Given the description of an element on the screen output the (x, y) to click on. 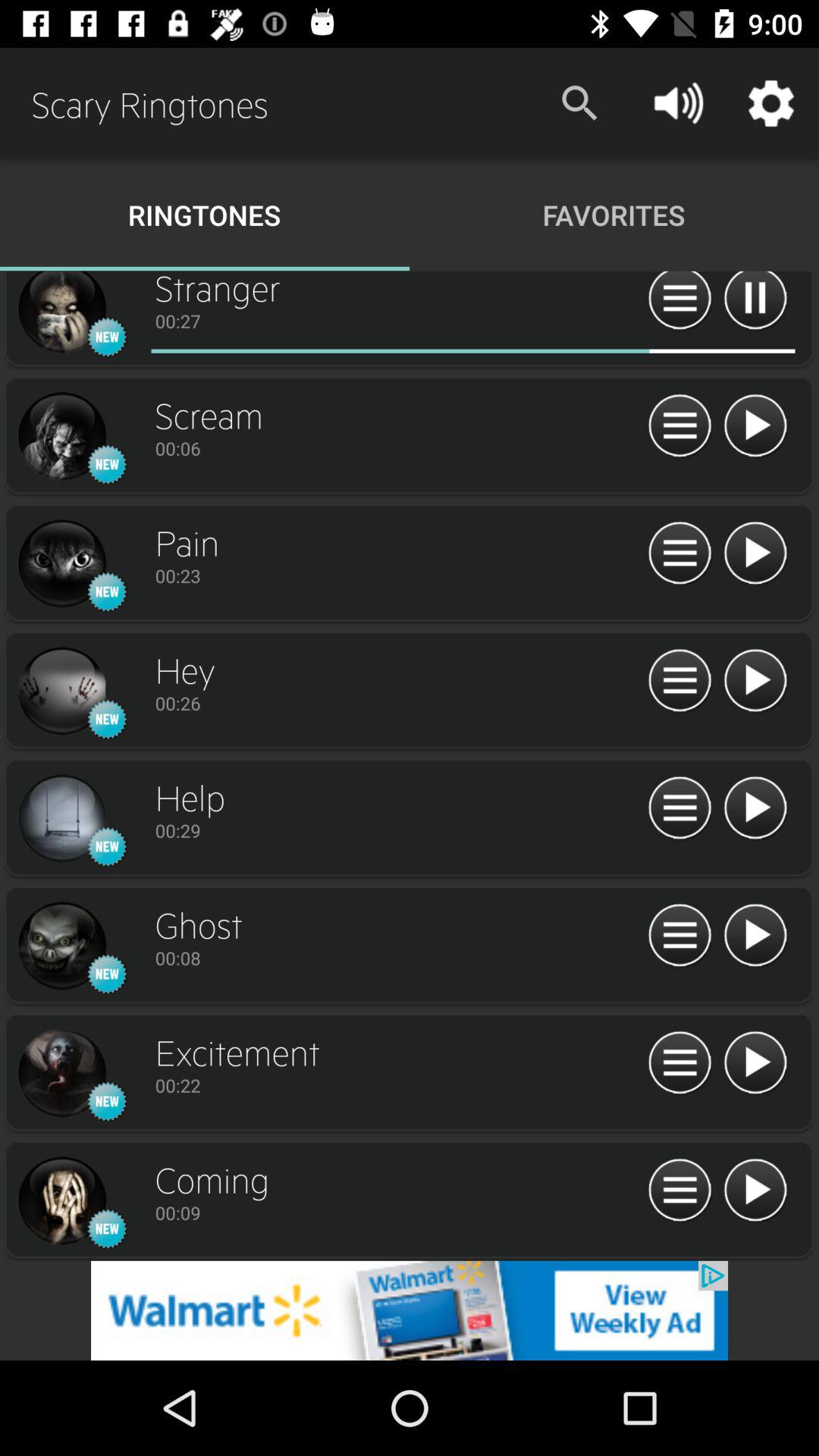
options for track (679, 808)
